Given the description of an element on the screen output the (x, y) to click on. 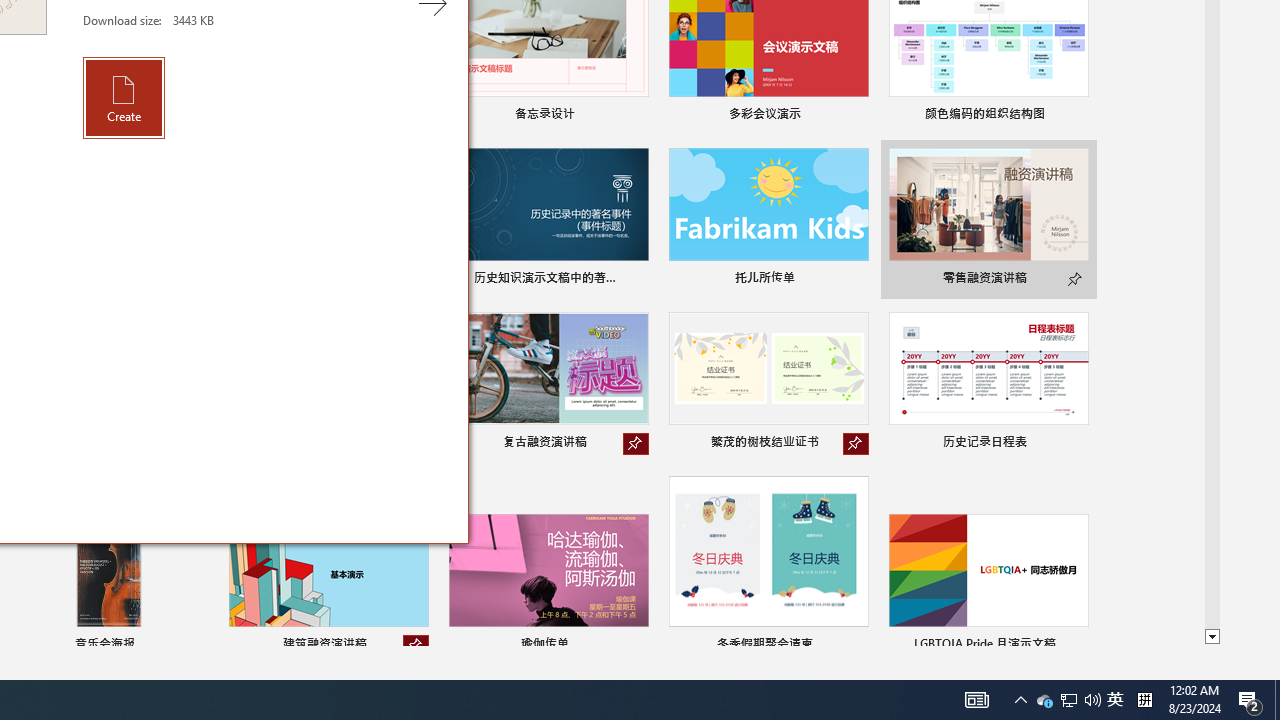
Unpin from list (415, 645)
